Given the description of an element on the screen output the (x, y) to click on. 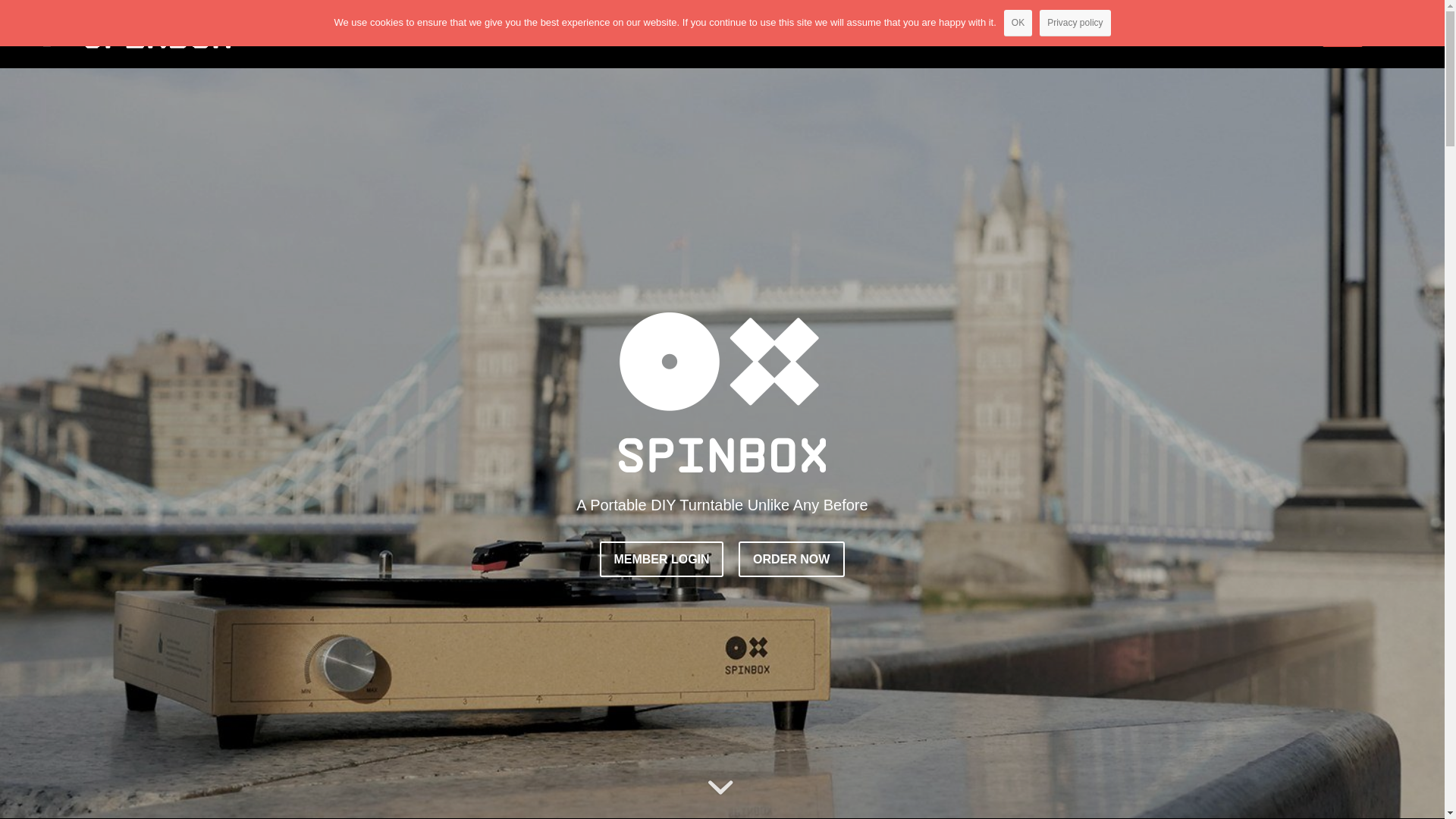
ORDER NOW Element type: text (791, 559)
Privacy policy Element type: text (1074, 22)
Spinbox Element type: text (1100, 34)
Subscribe Element type: text (1203, 34)
0 Element type: text (1393, 34)
Order Element type: text (1342, 34)
FAQ Element type: text (1149, 34)
MEMBER LOGIN Element type: text (660, 559)
Order Track Element type: text (1274, 34)
OK Element type: text (1018, 22)
